Given the description of an element on the screen output the (x, y) to click on. 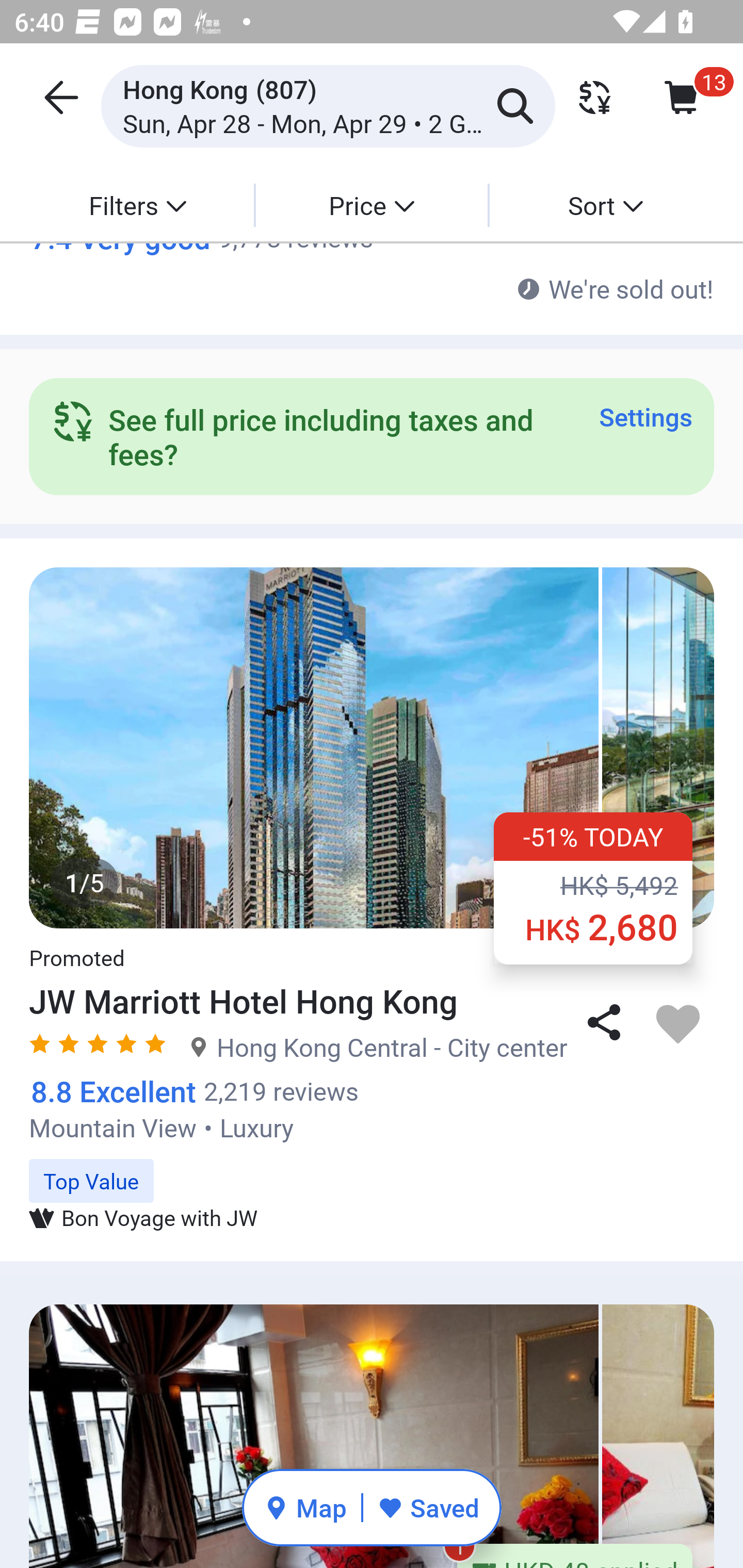
Filters (137, 205)
Price (371, 205)
Sort (605, 205)
Settings (645, 416)
1/5 (371, 747)
-51% TODAY ‪HK$ 5,492 ‪HK$ 2,680 (593, 888)
Promoted (76, 946)
Top Value (371, 1170)
Map (305, 1507)
Saved (428, 1507)
